Given the description of an element on the screen output the (x, y) to click on. 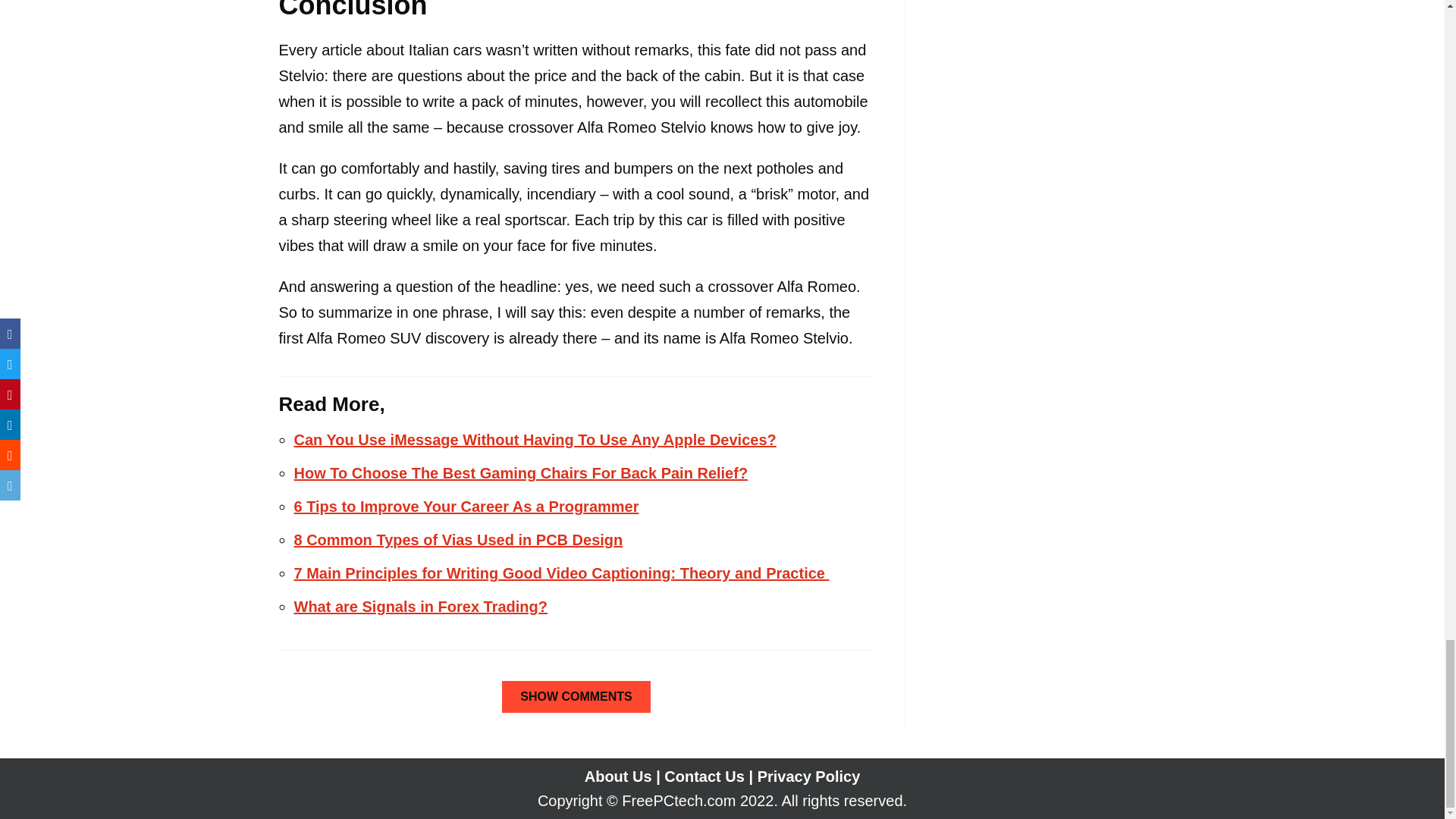
How To Choose The Best Gaming Chairs For Back Pain Relief? (521, 473)
6 Tips to Improve Your Career As a Programmer (466, 506)
8 Common Types of Vias Used in PCB Design (458, 539)
What are Signals in Forex Trading? (421, 606)
